Given the description of an element on the screen output the (x, y) to click on. 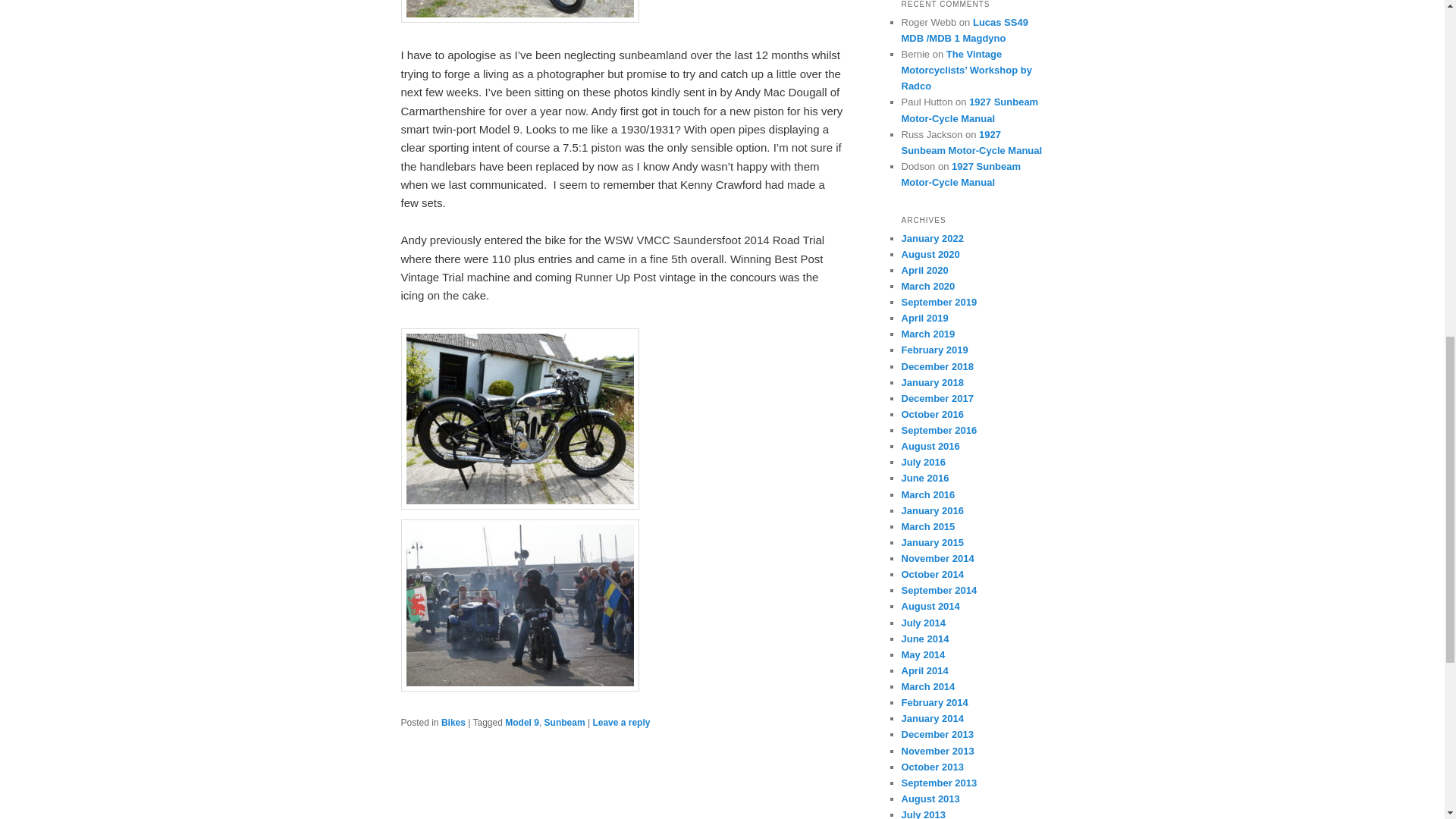
1927 Sunbeam Motor-Cycle Manual (969, 109)
Bikes (453, 722)
1927 Sunbeam Motor-Cycle Manual (971, 142)
April 2020 (924, 270)
1927 Sunbeam Motor-Cycle Manual (960, 174)
February 2019 (934, 349)
April 2019 (924, 317)
Sunbeam (564, 722)
March 2020 (928, 285)
Leave a reply (620, 722)
